Given the description of an element on the screen output the (x, y) to click on. 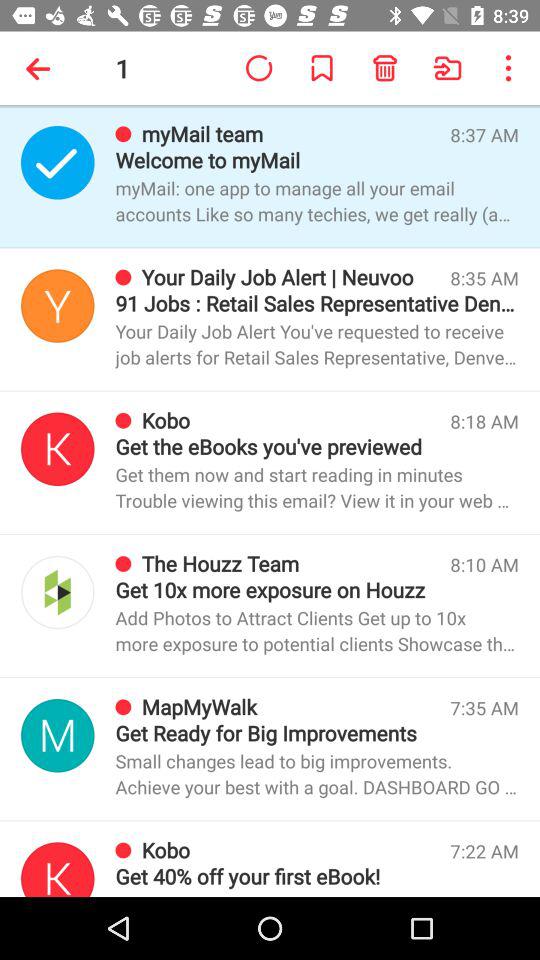
open sender profile open sender settings (57, 162)
